Given the description of an element on the screen output the (x, y) to click on. 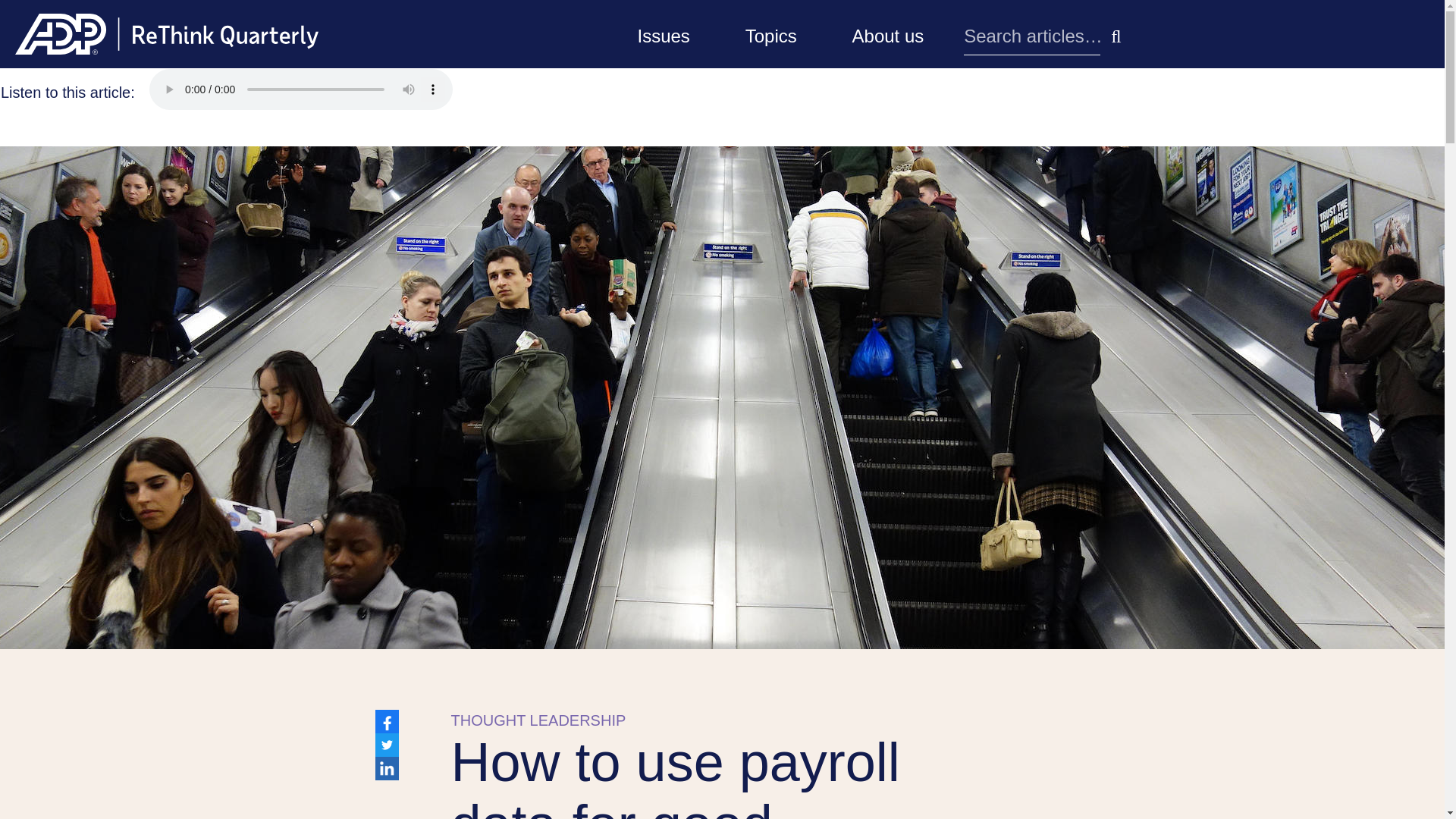
Topics (771, 33)
Issues (662, 33)
Issues (662, 33)
About us (888, 33)
Topics (771, 33)
